Given the description of an element on the screen output the (x, y) to click on. 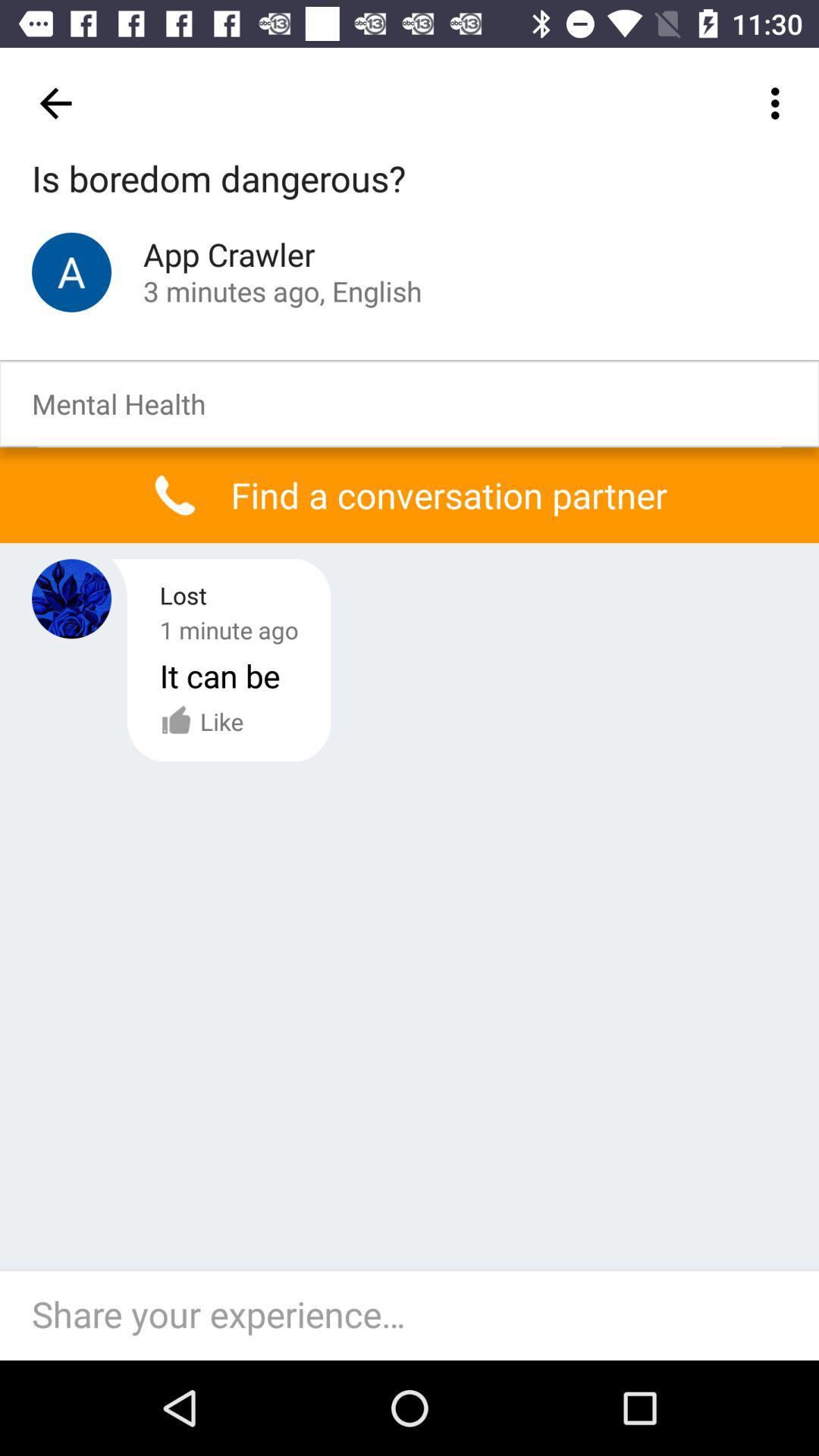
click the item below the like icon (417, 1315)
